Given the description of an element on the screen output the (x, y) to click on. 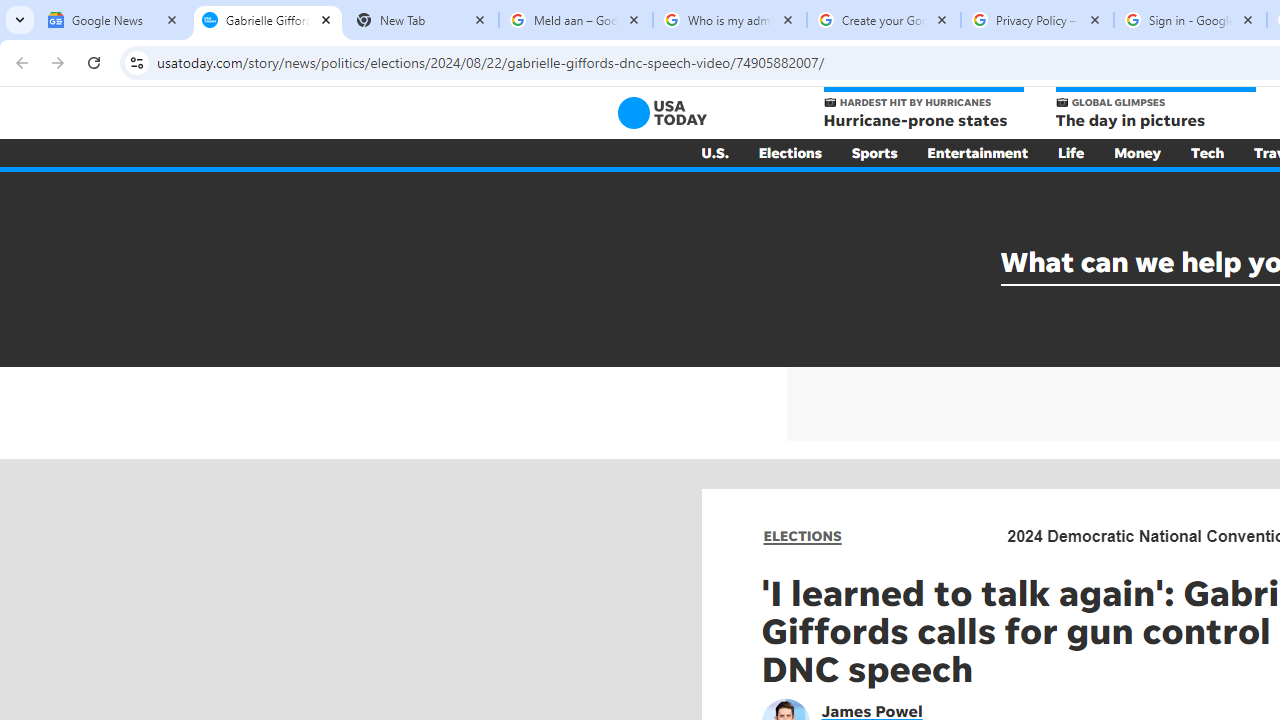
Create your Google Account (883, 20)
USA TODAY (661, 112)
ELECTIONS (802, 536)
Who is my administrator? - Google Account Help (729, 20)
Life (1071, 152)
Google News (113, 20)
Sign in - Google Accounts (1190, 20)
